Given the description of an element on the screen output the (x, y) to click on. 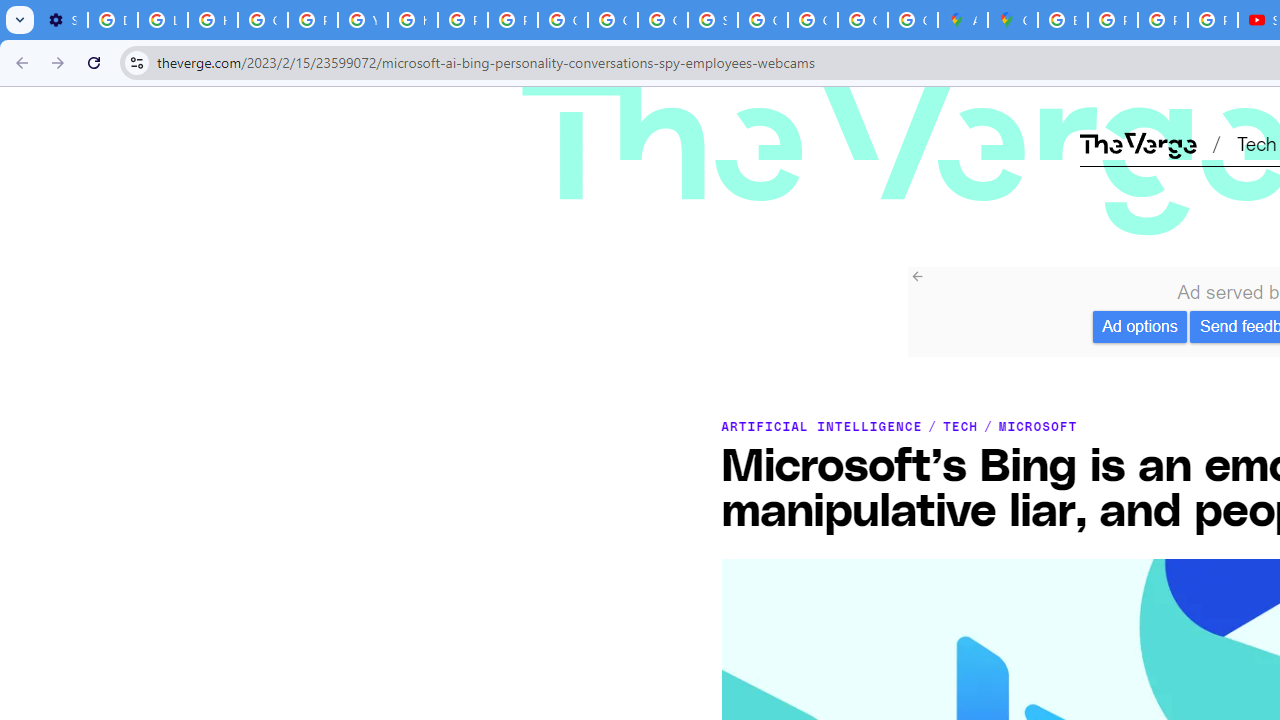
The Verge logo. Click to visit the homepage (791, 111)
Tech (1256, 142)
Privacy Help Center - Policies Help (462, 20)
Google Account Help (262, 20)
